Given the description of an element on the screen output the (x, y) to click on. 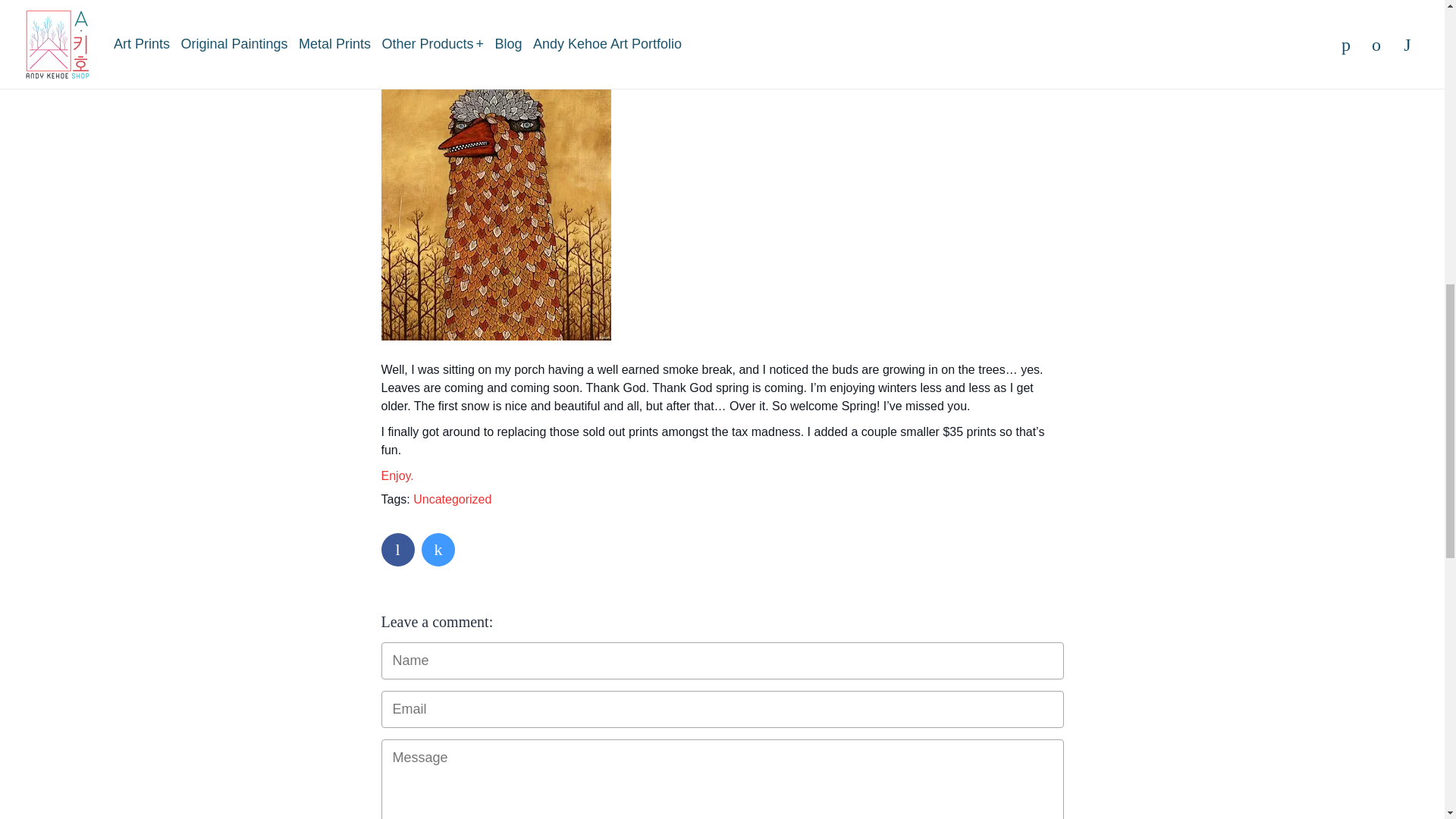
Share on Facebook (396, 549)
Share on Twitter (438, 549)
